Given the description of an element on the screen output the (x, y) to click on. 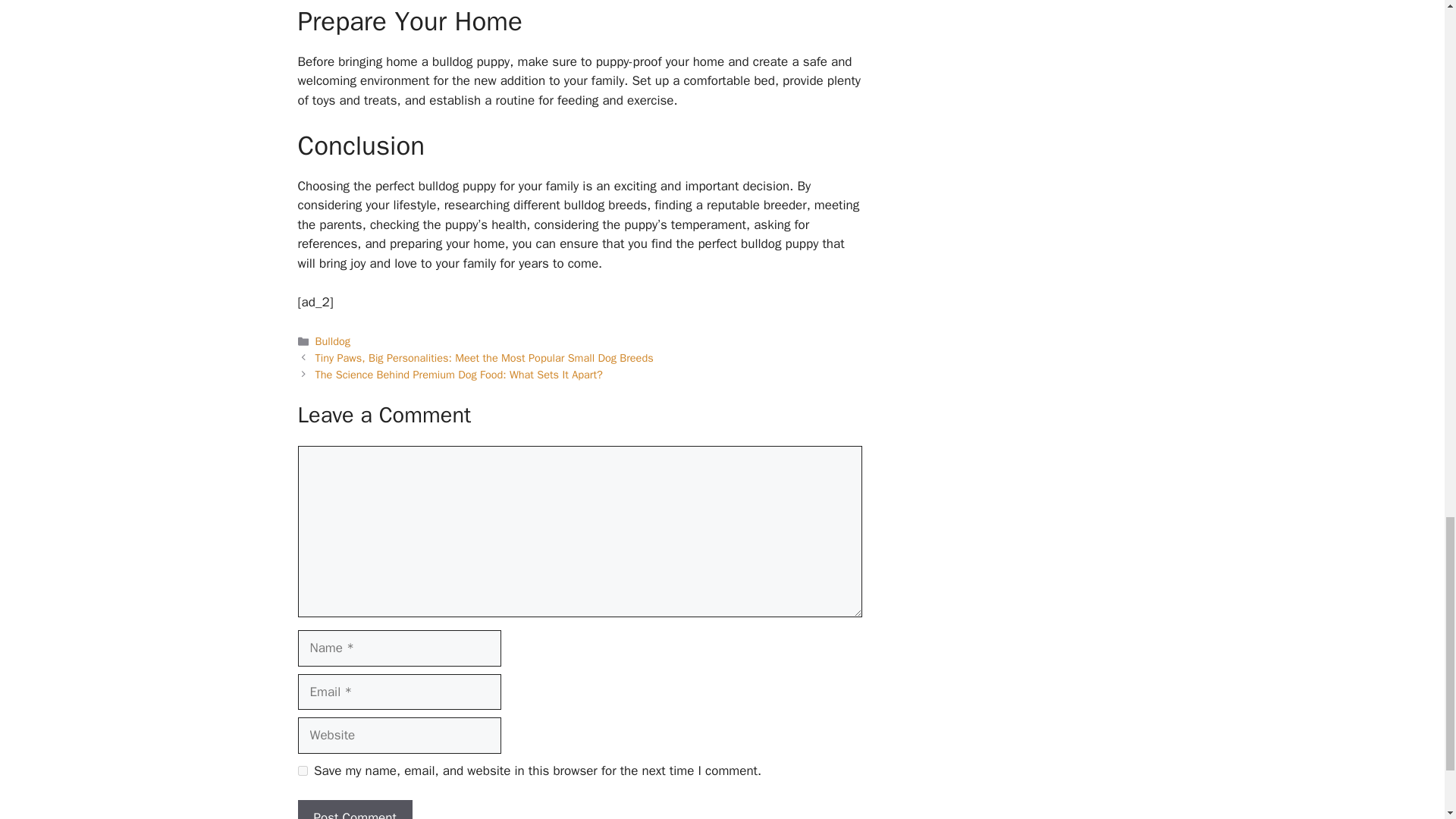
Post Comment (354, 809)
Post Comment (354, 809)
The Science Behind Premium Dog Food: What Sets It Apart? (458, 374)
yes (302, 770)
Bulldog (332, 341)
